Given the description of an element on the screen output the (x, y) to click on. 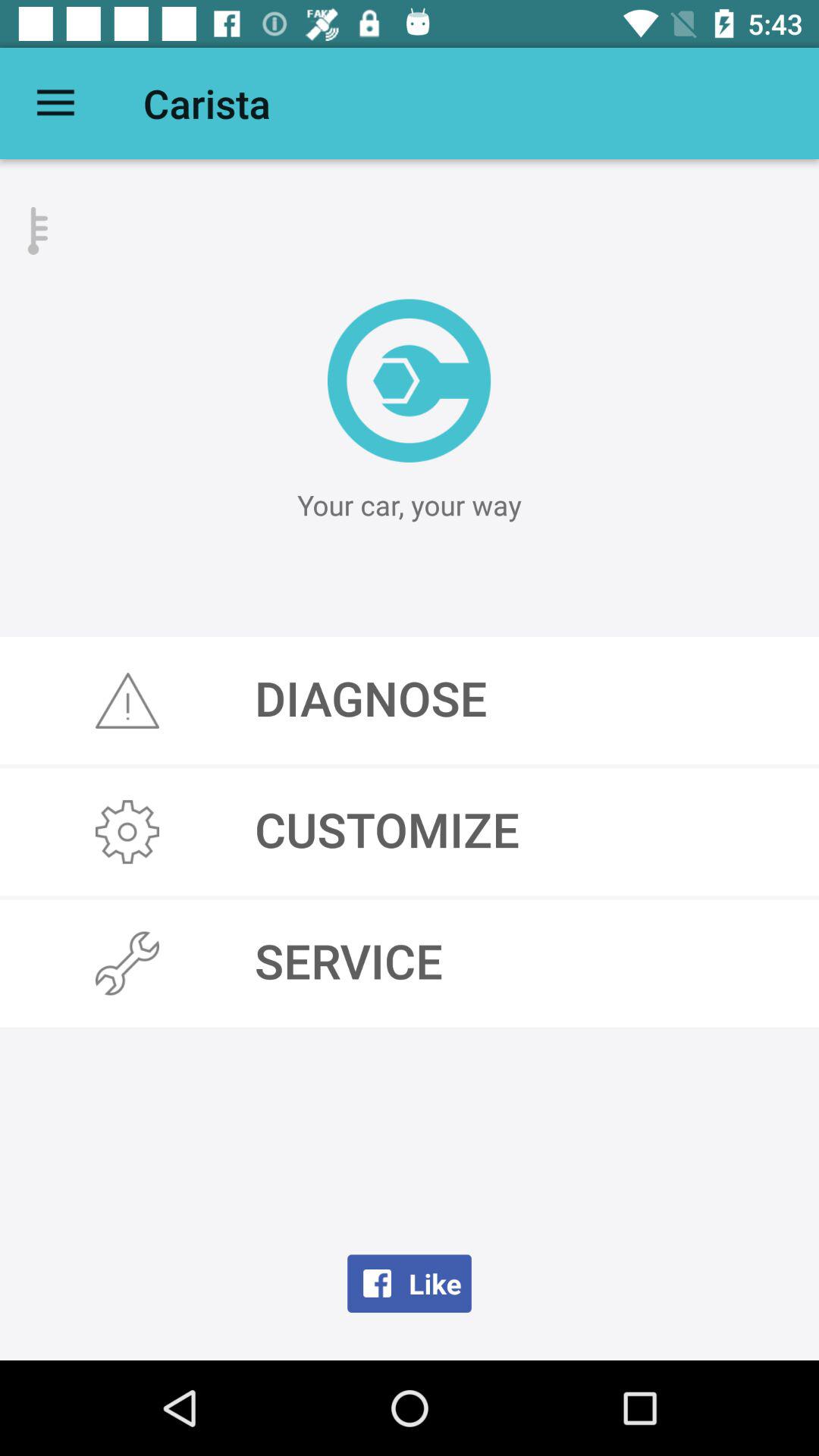
tap icon below customize icon (409, 963)
